Given the description of an element on the screen output the (x, y) to click on. 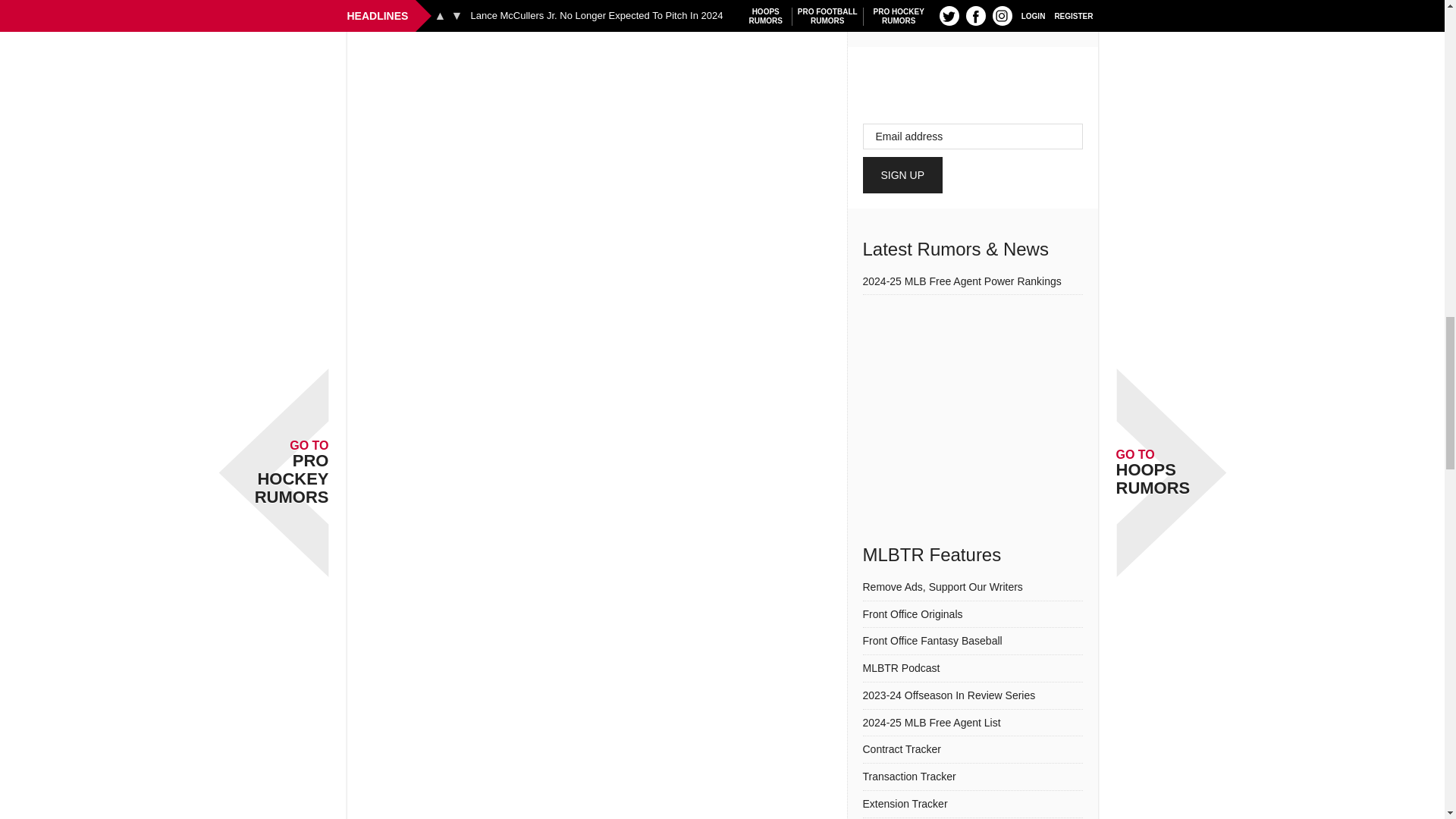
Sign Up (903, 175)
